Given the description of an element on the screen output the (x, y) to click on. 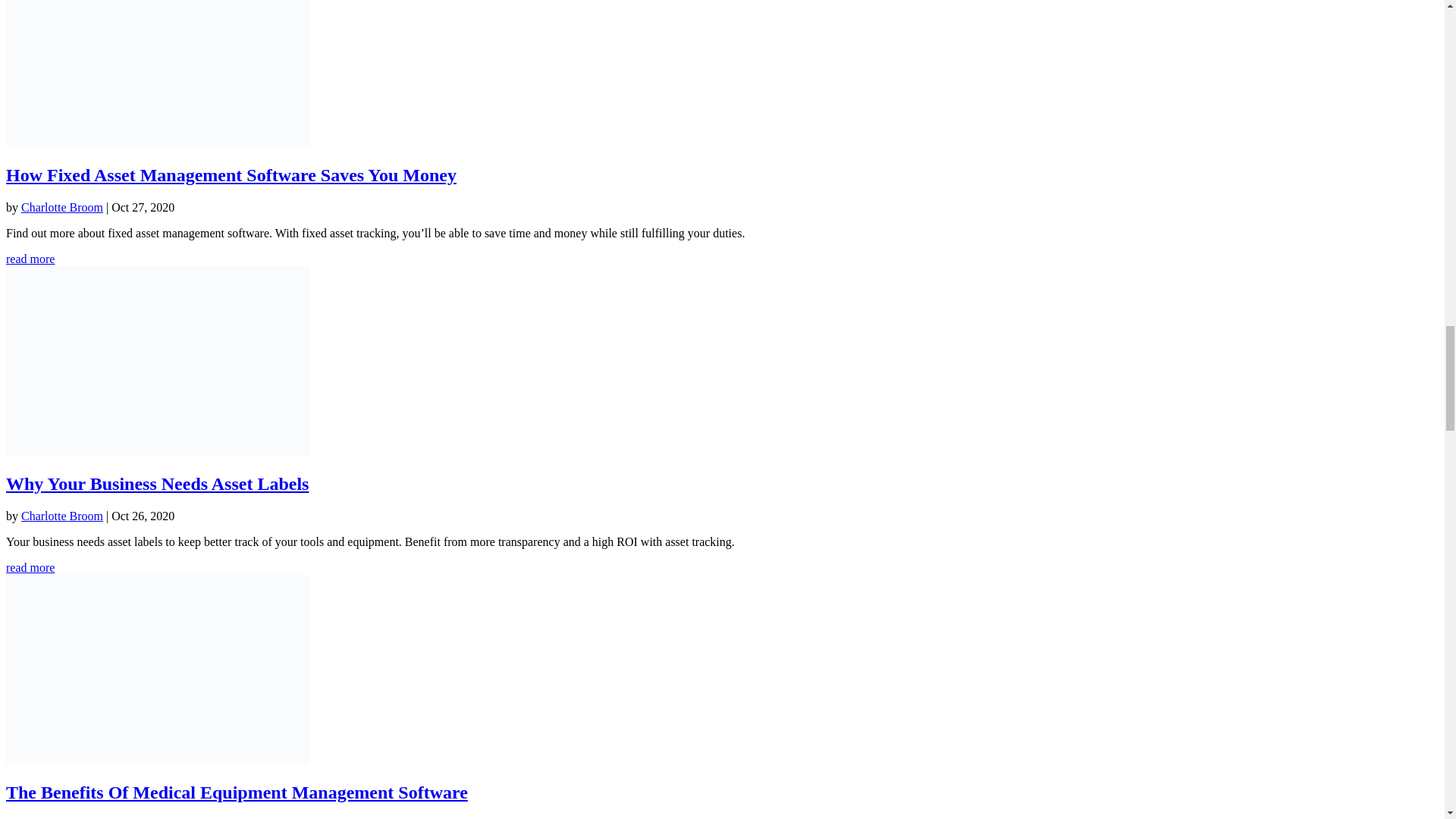
Posts by Charlotte Broom (62, 206)
Posts by Charlotte Broom (62, 515)
